Given the description of an element on the screen output the (x, y) to click on. 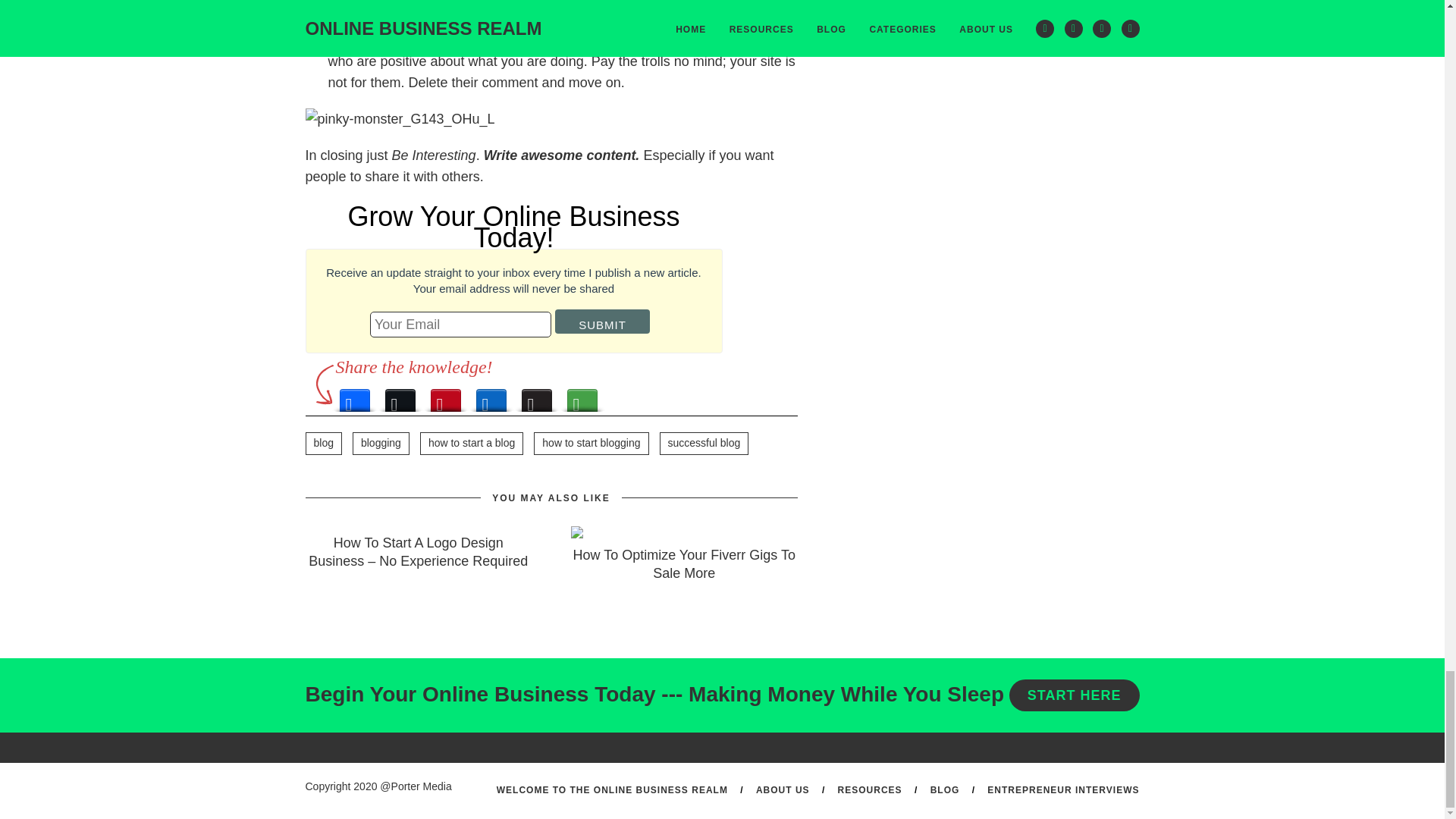
Submit (601, 321)
More Options (582, 396)
Pinterest (445, 396)
Facebook (354, 396)
LinkedIn (490, 396)
blog (322, 443)
blogging (380, 443)
Buffer (536, 396)
Submit (601, 321)
